Given the description of an element on the screen output the (x, y) to click on. 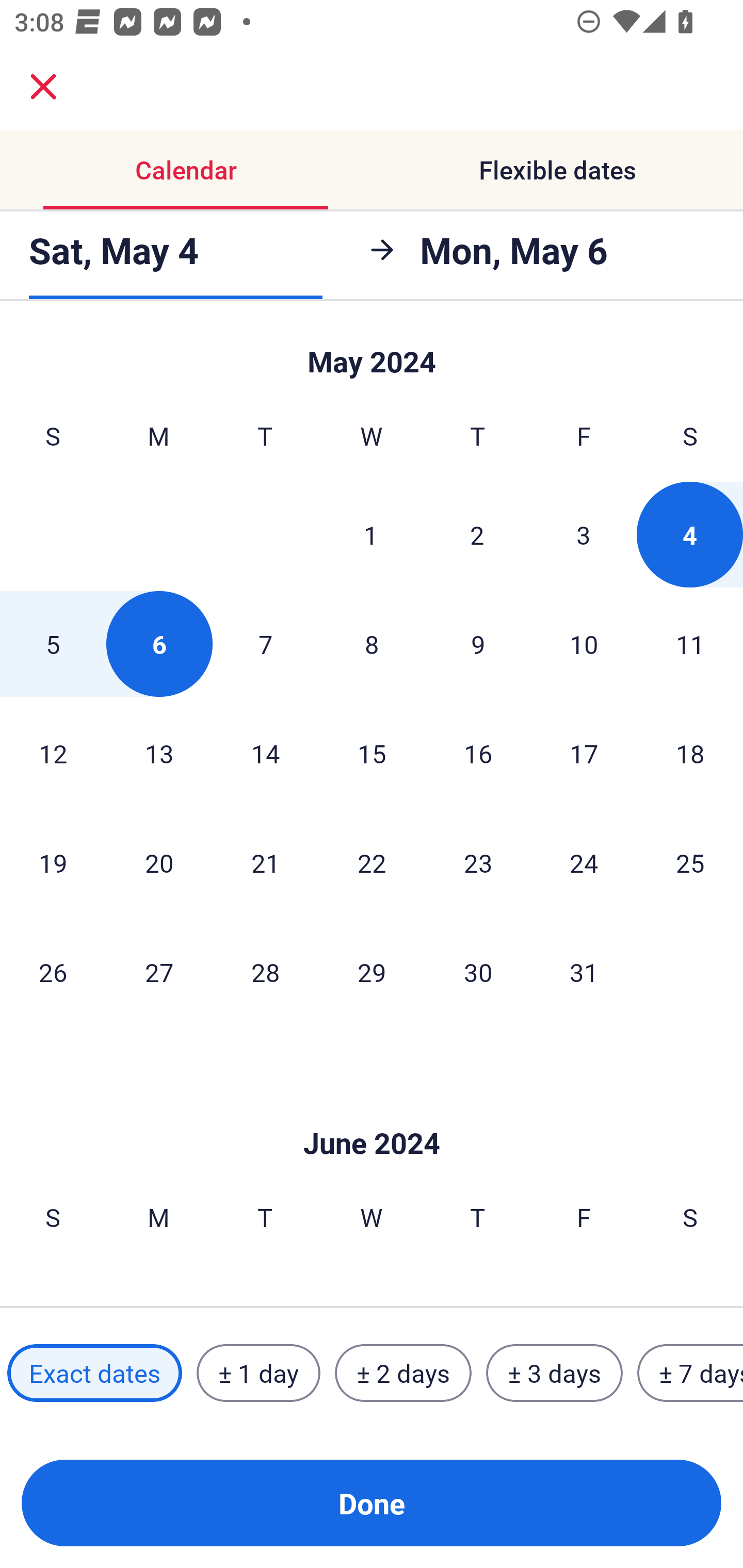
close. (43, 86)
Flexible dates (557, 170)
Skip to Done (371, 352)
1 Wednesday, May 1, 2024 (371, 534)
2 Thursday, May 2, 2024 (477, 534)
3 Friday, May 3, 2024 (583, 534)
7 Tuesday, May 7, 2024 (265, 643)
8 Wednesday, May 8, 2024 (371, 643)
9 Thursday, May 9, 2024 (477, 643)
10 Friday, May 10, 2024 (584, 643)
11 Saturday, May 11, 2024 (690, 643)
12 Sunday, May 12, 2024 (53, 752)
13 Monday, May 13, 2024 (159, 752)
14 Tuesday, May 14, 2024 (265, 752)
15 Wednesday, May 15, 2024 (371, 752)
16 Thursday, May 16, 2024 (477, 752)
17 Friday, May 17, 2024 (584, 752)
18 Saturday, May 18, 2024 (690, 752)
19 Sunday, May 19, 2024 (53, 862)
20 Monday, May 20, 2024 (159, 862)
21 Tuesday, May 21, 2024 (265, 862)
22 Wednesday, May 22, 2024 (371, 862)
23 Thursday, May 23, 2024 (477, 862)
24 Friday, May 24, 2024 (584, 862)
25 Saturday, May 25, 2024 (690, 862)
26 Sunday, May 26, 2024 (53, 971)
27 Monday, May 27, 2024 (159, 971)
28 Tuesday, May 28, 2024 (265, 971)
29 Wednesday, May 29, 2024 (371, 971)
30 Thursday, May 30, 2024 (477, 971)
31 Friday, May 31, 2024 (584, 971)
Skip to Done (371, 1112)
Exact dates (94, 1372)
± 1 day (258, 1372)
± 2 days (403, 1372)
± 3 days (553, 1372)
± 7 days (690, 1372)
Done (371, 1502)
